Given the description of an element on the screen output the (x, y) to click on. 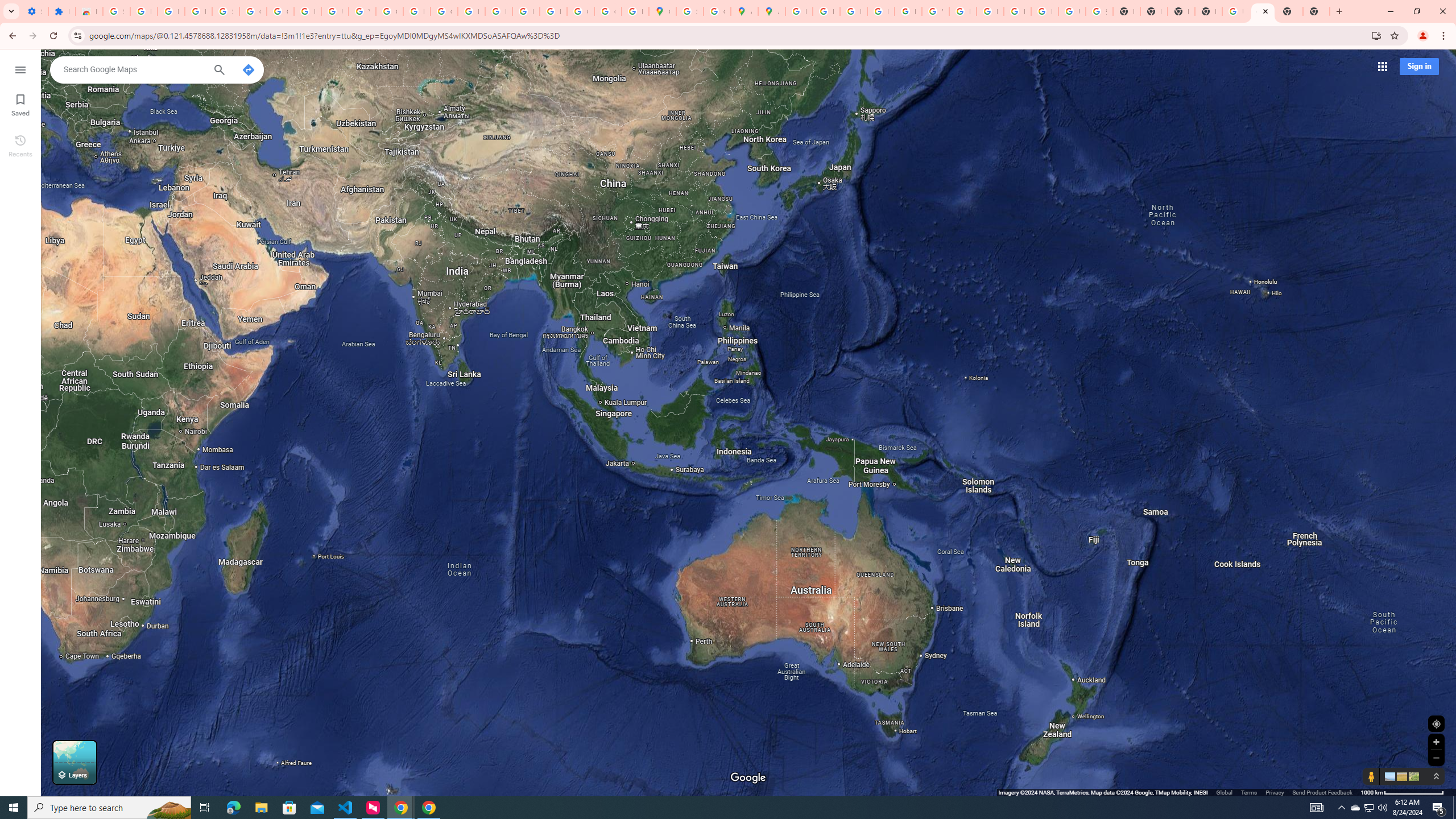
YouTube (362, 11)
https://scholar.google.com/ (416, 11)
Privacy (1274, 792)
Browse Chrome as a guest - Computer - Google Chrome Help (1017, 11)
Address and search bar (726, 35)
Back (10, 35)
Recents (20, 145)
Close (1265, 11)
Privacy Help Center - Policies Help (826, 11)
Zoom in (1436, 741)
You (1422, 35)
